Given the description of an element on the screen output the (x, y) to click on. 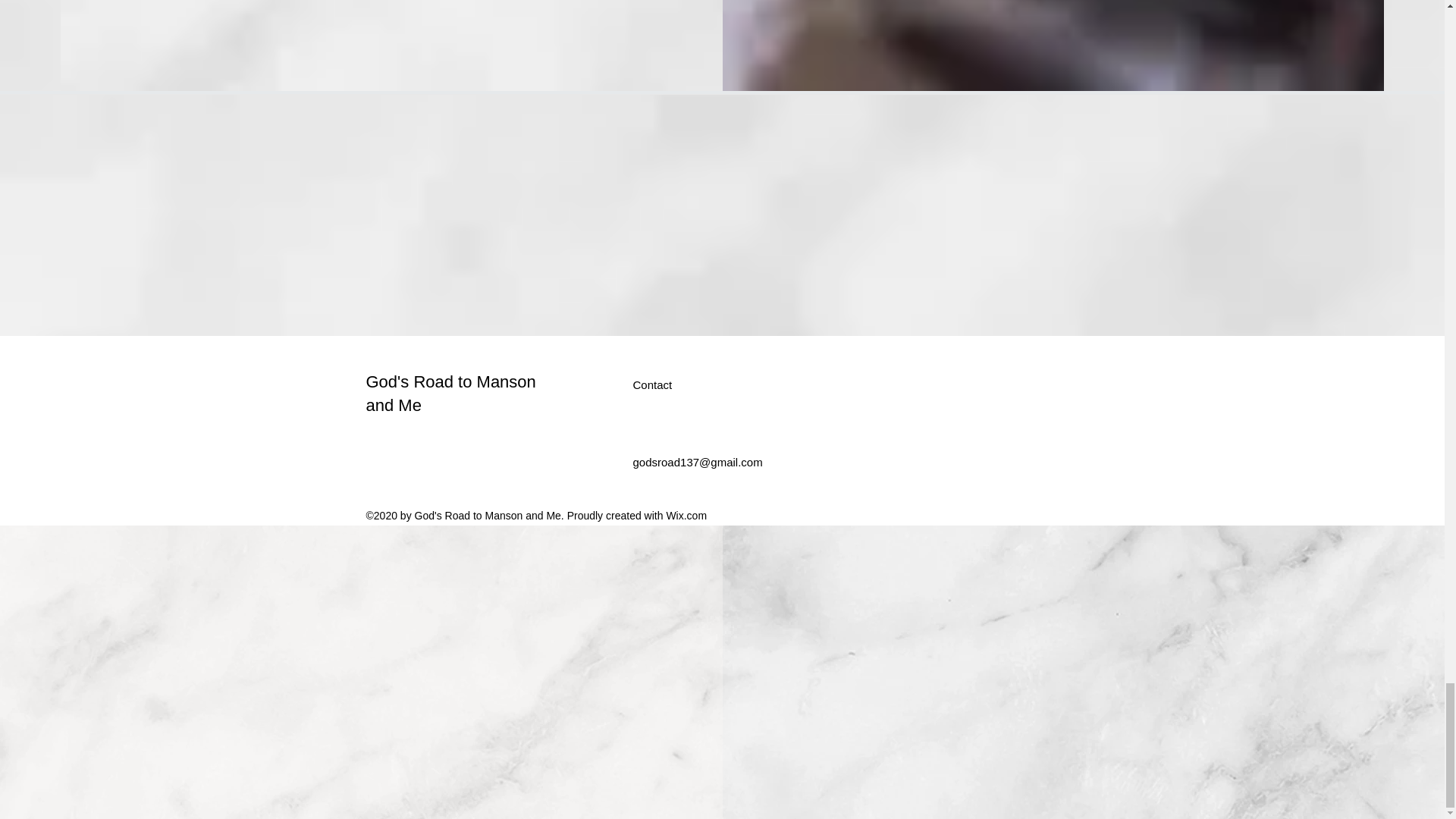
God's Road to Manson and Me (450, 392)
